Given the description of an element on the screen output the (x, y) to click on. 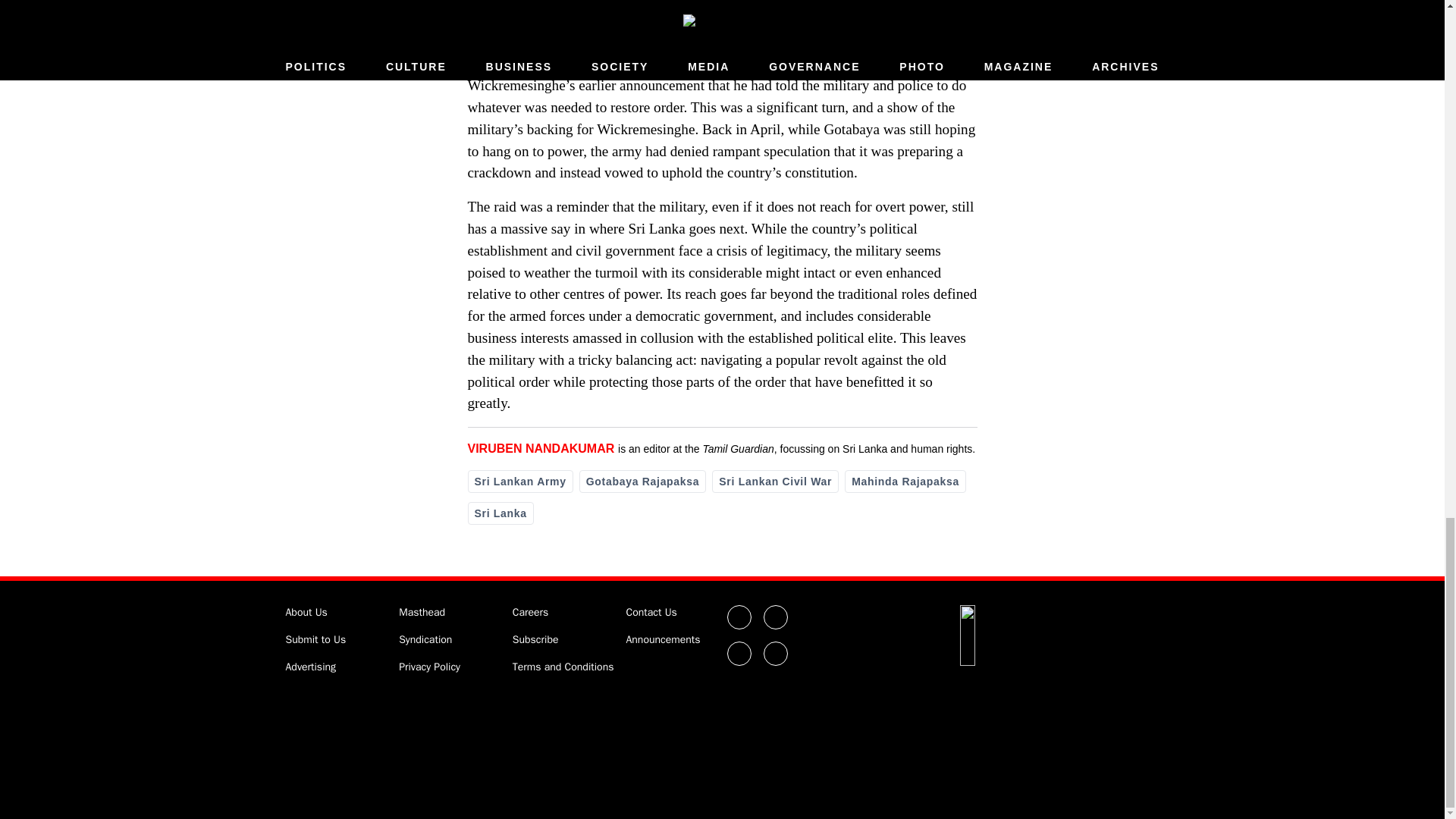
Sri Lankan Army (519, 481)
About Us (305, 612)
Terms and Conditions (563, 666)
Mahinda Rajapaksa (905, 481)
Announcements (663, 639)
Sri Lanka (499, 513)
Syndication (424, 639)
Sri Lankan Civil War (774, 481)
Privacy Policy (429, 666)
Careers (530, 612)
Gotabaya Rajapaksa (642, 481)
Masthead (421, 612)
Subscribe (535, 639)
Contact Us (651, 612)
Advertising (310, 666)
